Given the description of an element on the screen output the (x, y) to click on. 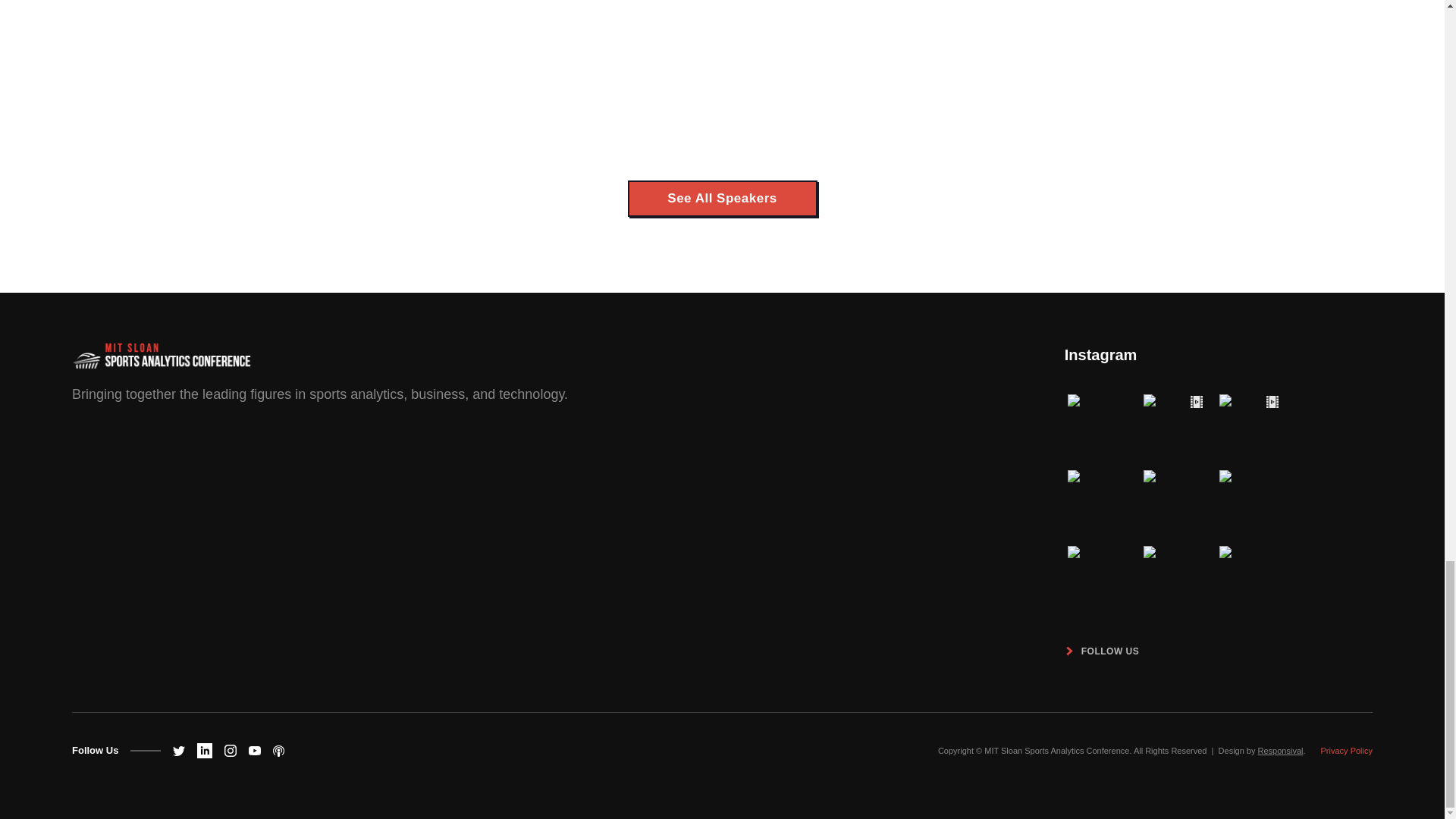
See All Speakers (721, 198)
FOLLOW US (1104, 650)
